Given the description of an element on the screen output the (x, y) to click on. 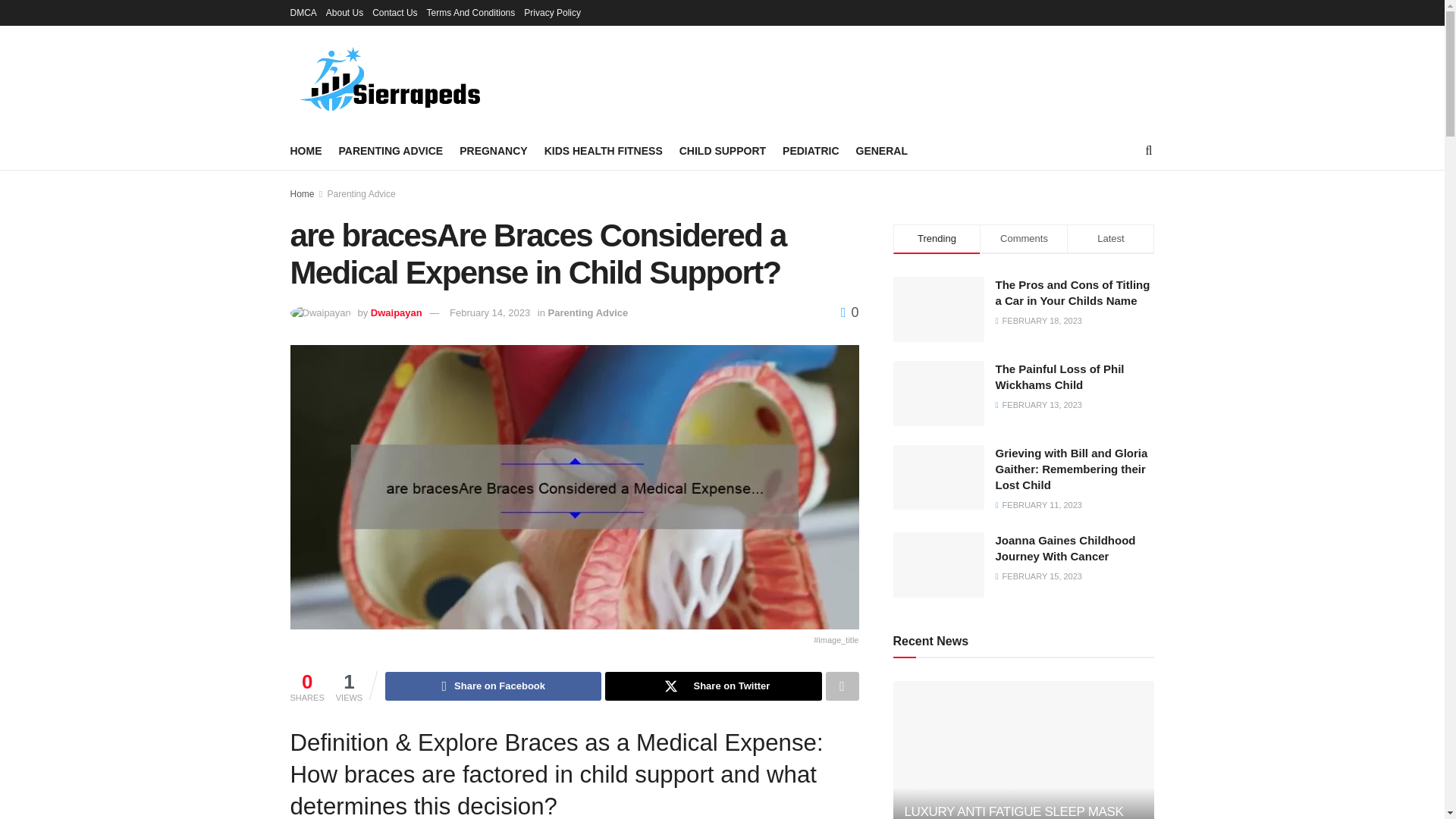
0 (850, 312)
KIDS HEALTH FITNESS (603, 150)
DMCA (302, 12)
GENERAL (881, 150)
Terms And Conditions (470, 12)
Privacy Policy (552, 12)
February 14, 2023 (489, 312)
CHILD SUPPORT (722, 150)
About Us (344, 12)
PARENTING ADVICE (389, 150)
